Given the description of an element on the screen output the (x, y) to click on. 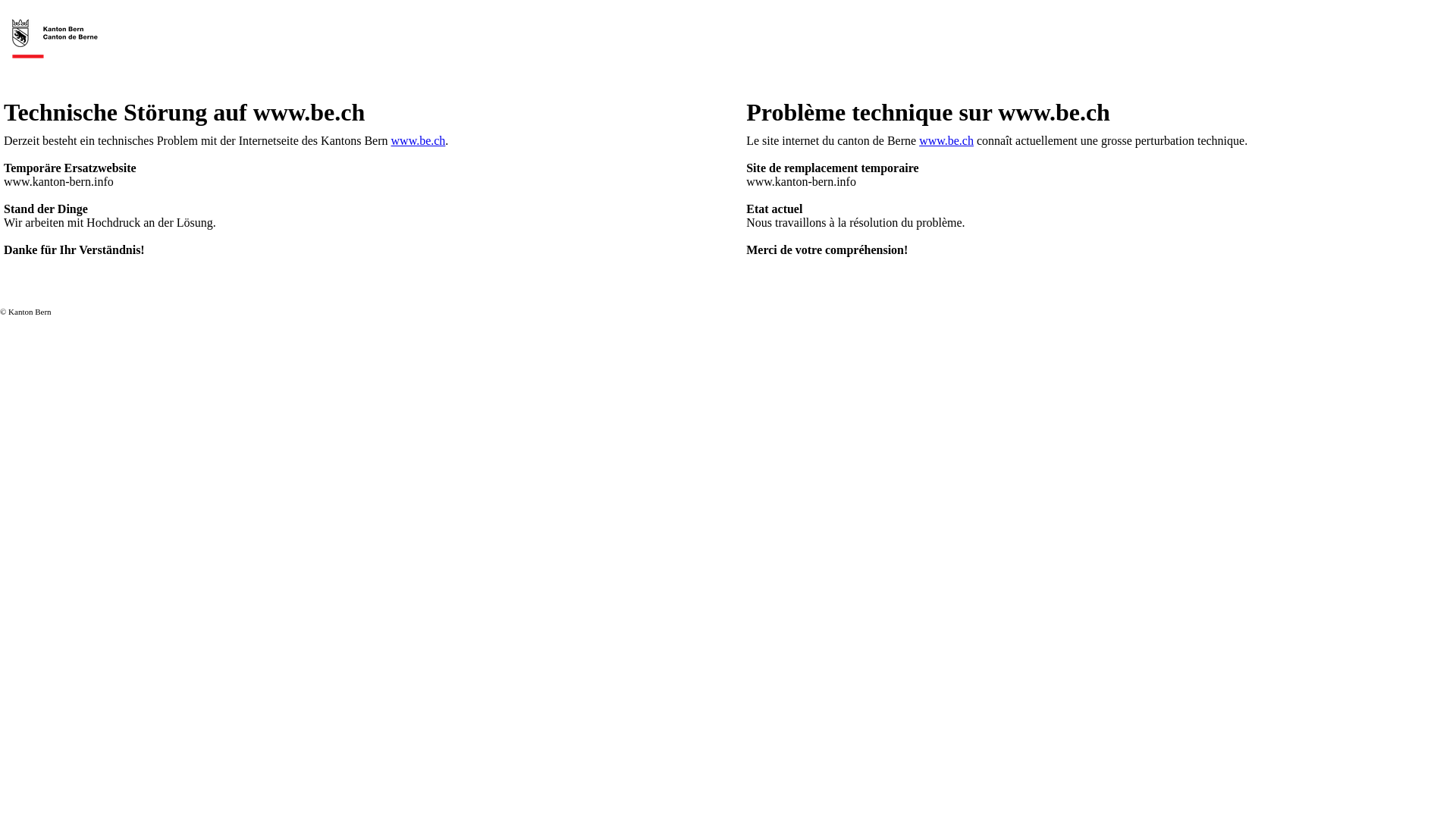
www.be.ch Element type: text (418, 140)
www.be.ch Element type: text (946, 140)
